Given the description of an element on the screen output the (x, y) to click on. 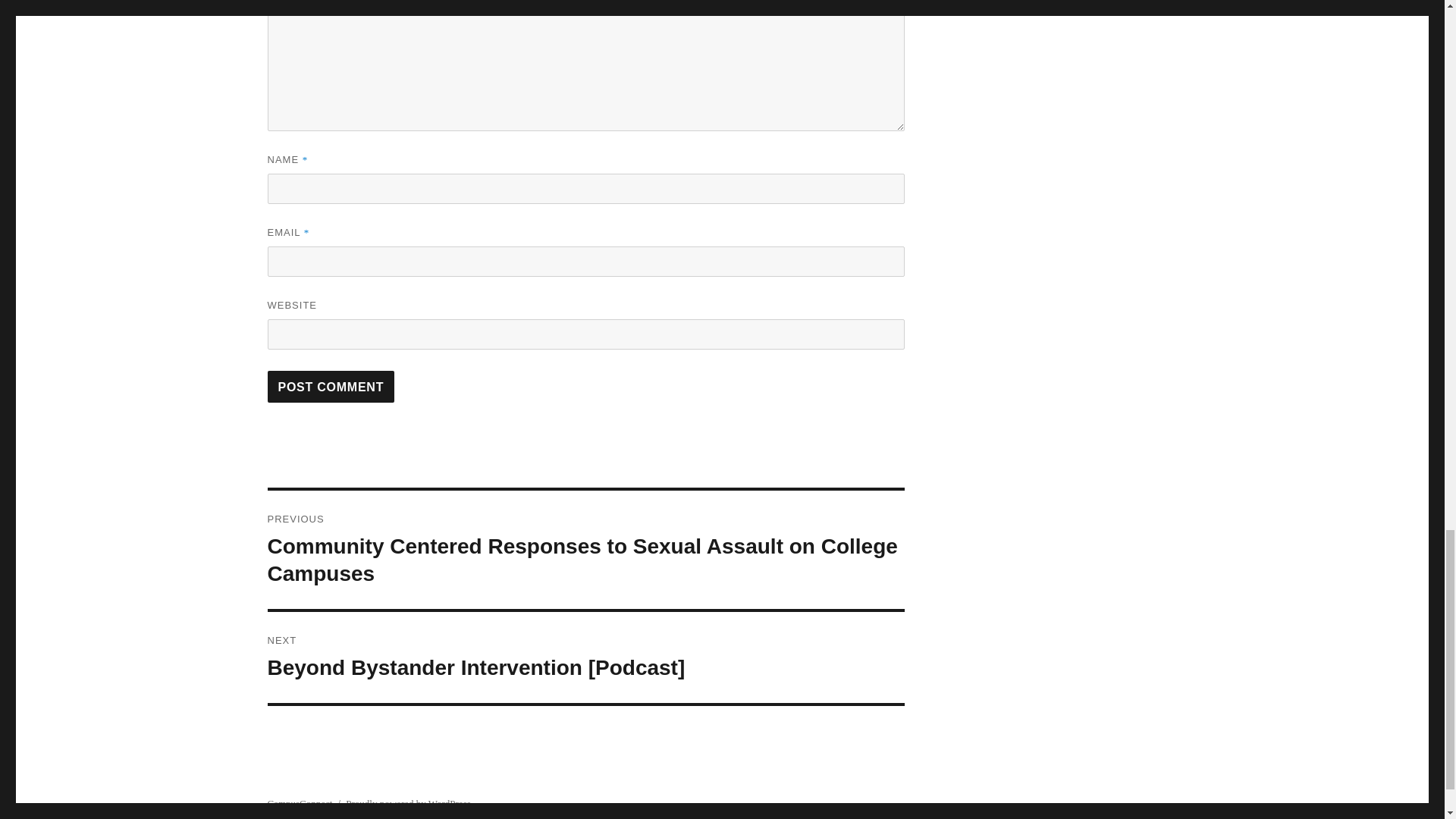
Post Comment (330, 386)
CampusConnect (298, 803)
Proudly powered by WordPress (408, 803)
Post Comment (330, 386)
